Given the description of an element on the screen output the (x, y) to click on. 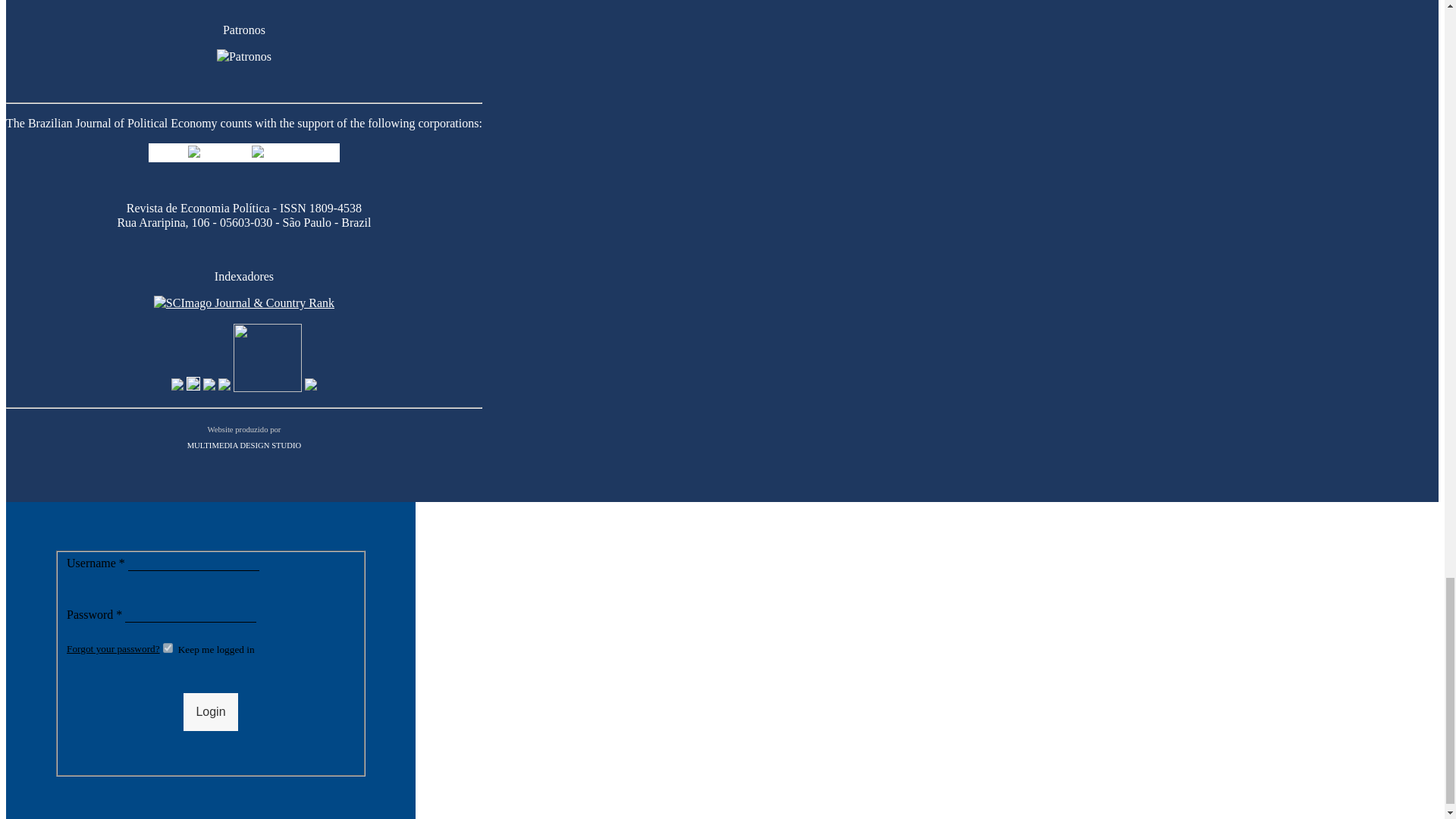
1 (168, 647)
THOMSON REUTERS (310, 387)
REPEC (177, 387)
ECONLIT (209, 387)
SCIELO (266, 387)
RESEARCHGATE (223, 387)
GOOGLE SCHOLAR (193, 387)
